Given the description of an element on the screen output the (x, y) to click on. 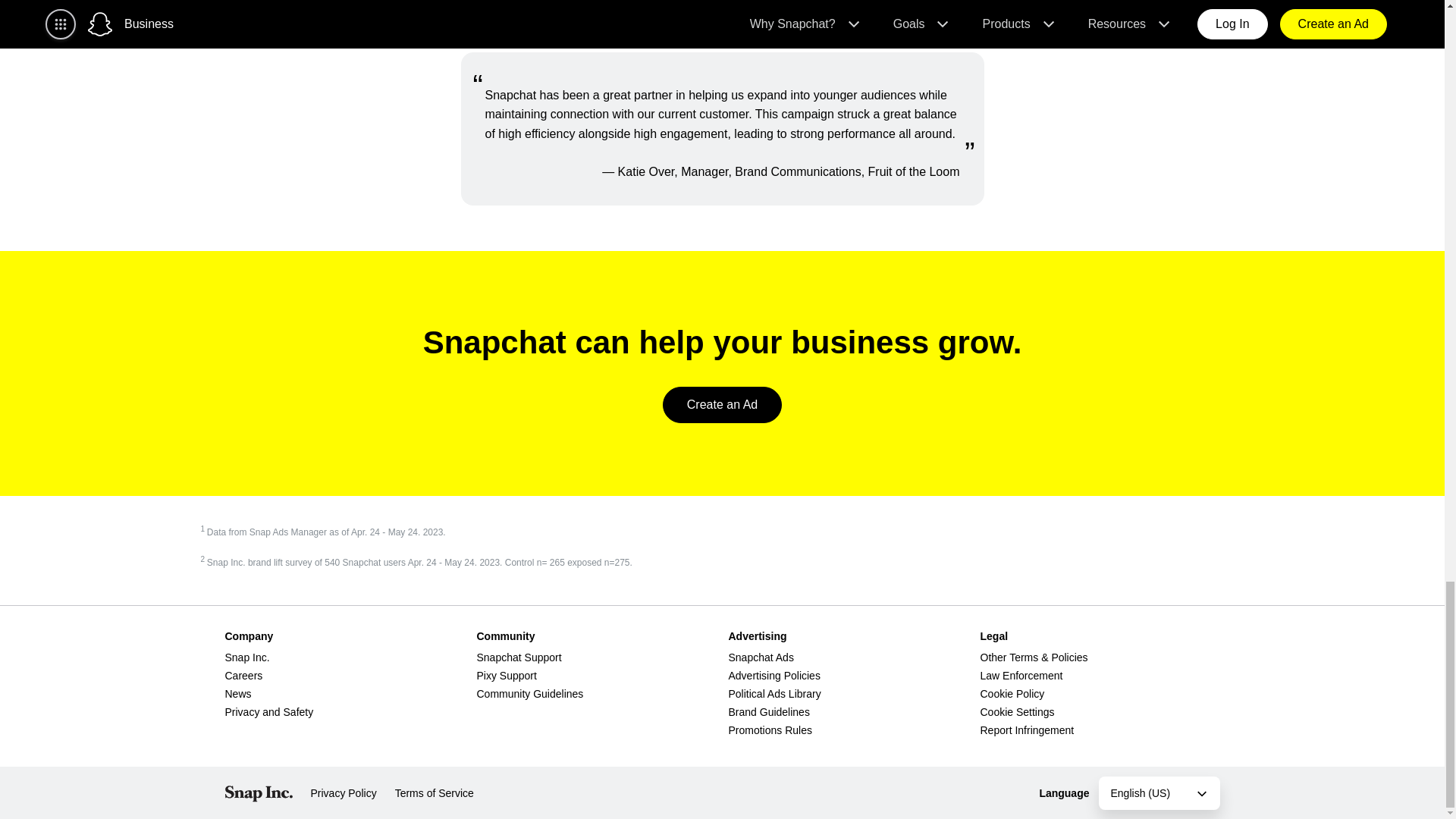
Pixy Support (505, 675)
Snapchat Ads (760, 657)
Privacy and Safety (268, 711)
News (237, 693)
Create an Ad (721, 404)
Community Guidelines (529, 693)
Snap Inc. (246, 657)
Snapchat Support (518, 657)
Careers (243, 675)
